Given the description of an element on the screen output the (x, y) to click on. 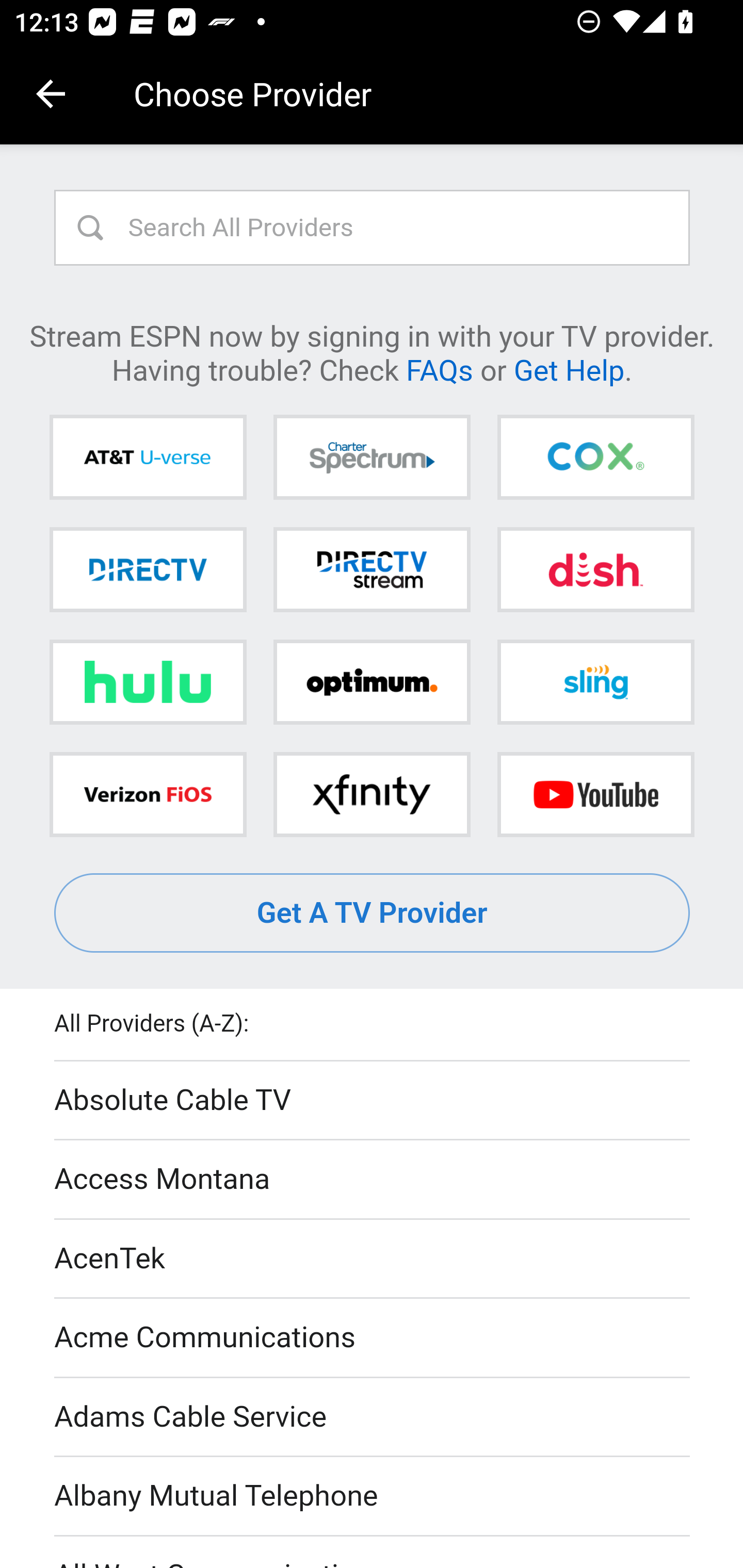
Navigate up (50, 93)
FAQs (438, 369)
Get Help (569, 369)
AT&T U-verse (147, 457)
Charter Spectrum (371, 457)
Cox (595, 457)
DIRECTV (147, 568)
DIRECTV STREAM (371, 568)
DISH (595, 568)
Hulu (147, 681)
Optimum (371, 681)
Sling TV (595, 681)
Verizon FiOS (147, 793)
Xfinity (371, 793)
YouTube TV (595, 793)
Get A TV Provider (372, 912)
Absolute Cable TV (372, 1100)
Access Montana (372, 1178)
AcenTek (372, 1258)
Acme Communications (372, 1338)
Adams Cable Service (372, 1417)
Albany Mutual Telephone (372, 1497)
